Given the description of an element on the screen output the (x, y) to click on. 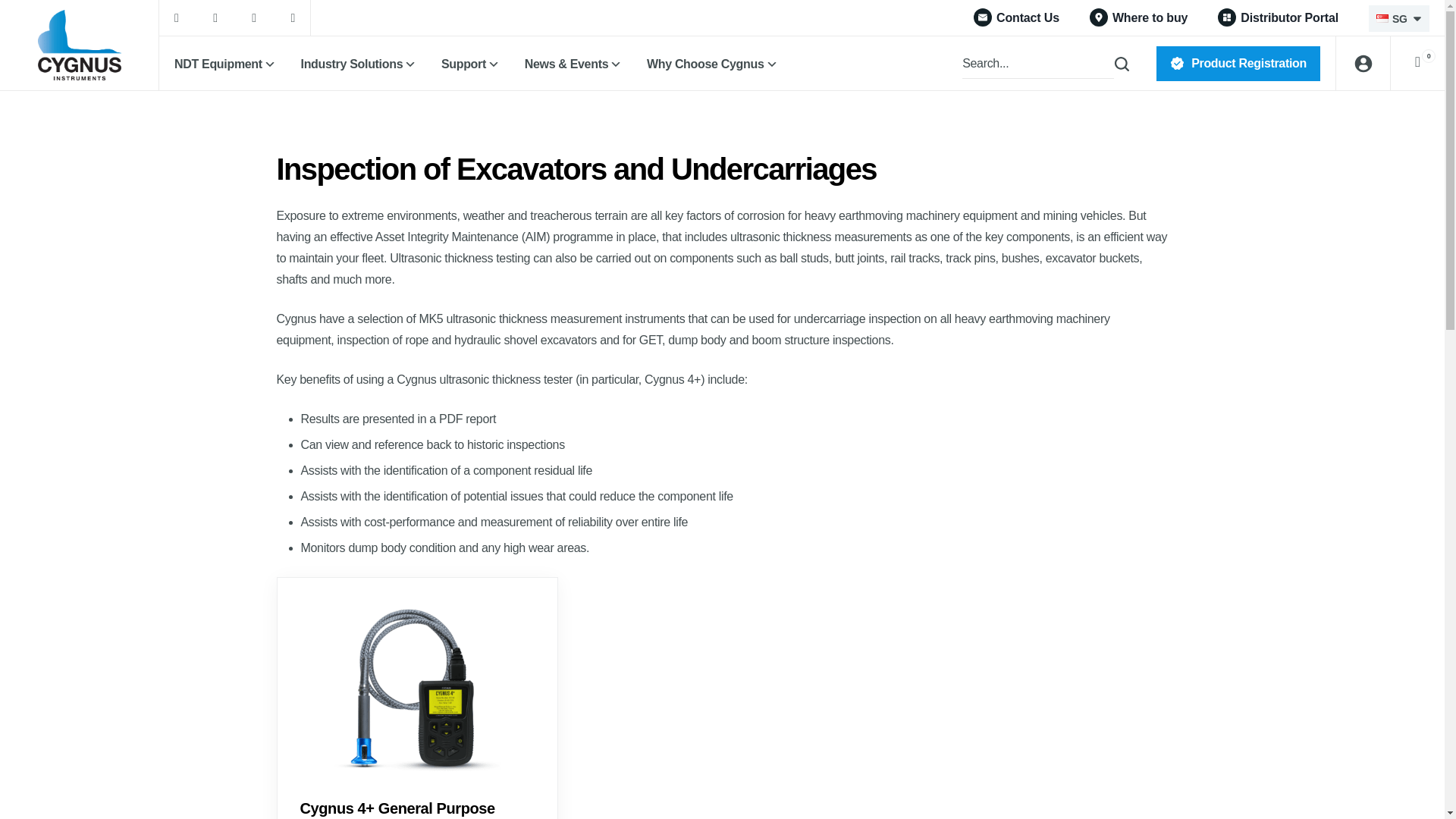
NDT Equipment (226, 64)
Where to buy (1138, 17)
Distributor Portal (1277, 17)
Search (1109, 63)
Industry Solutions (360, 64)
Contact Us (1016, 17)
